Given the description of an element on the screen output the (x, y) to click on. 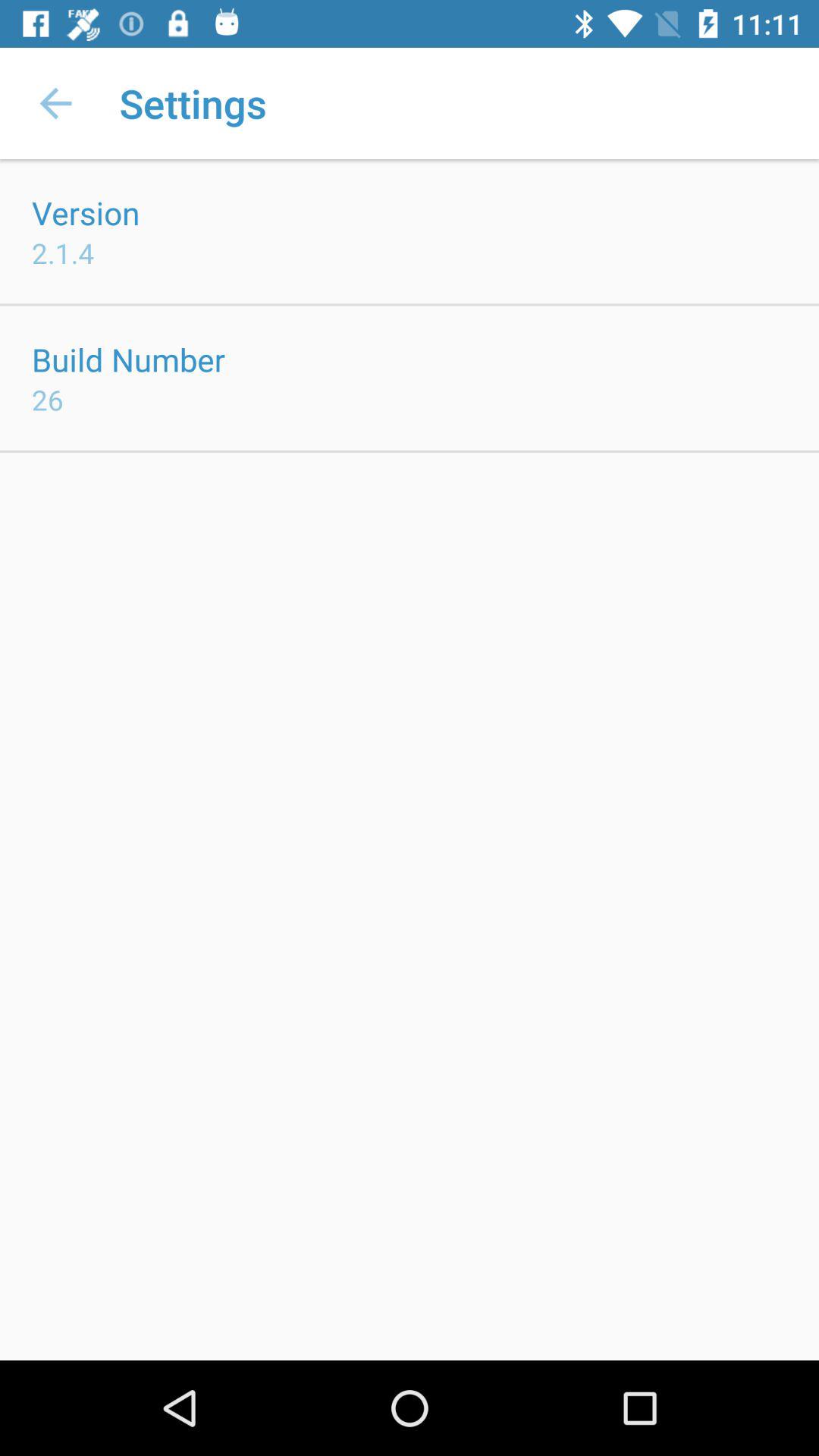
swipe until build number icon (128, 359)
